Given the description of an element on the screen output the (x, y) to click on. 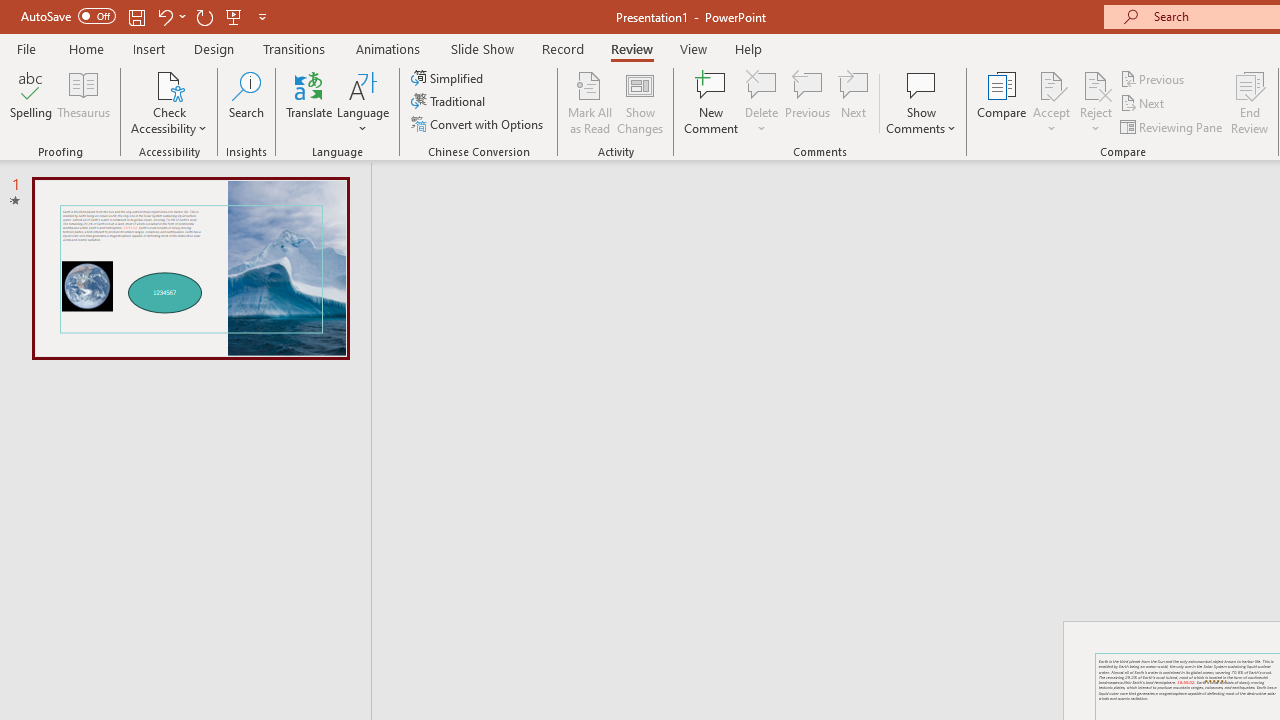
Thesaurus... (83, 102)
Compare (1002, 102)
Translate (309, 102)
Show Changes (639, 102)
Reviewing Pane (1172, 126)
Delete (762, 84)
Show Comments (921, 84)
Check Accessibility (169, 102)
Accept Change (1051, 84)
